Given the description of an element on the screen output the (x, y) to click on. 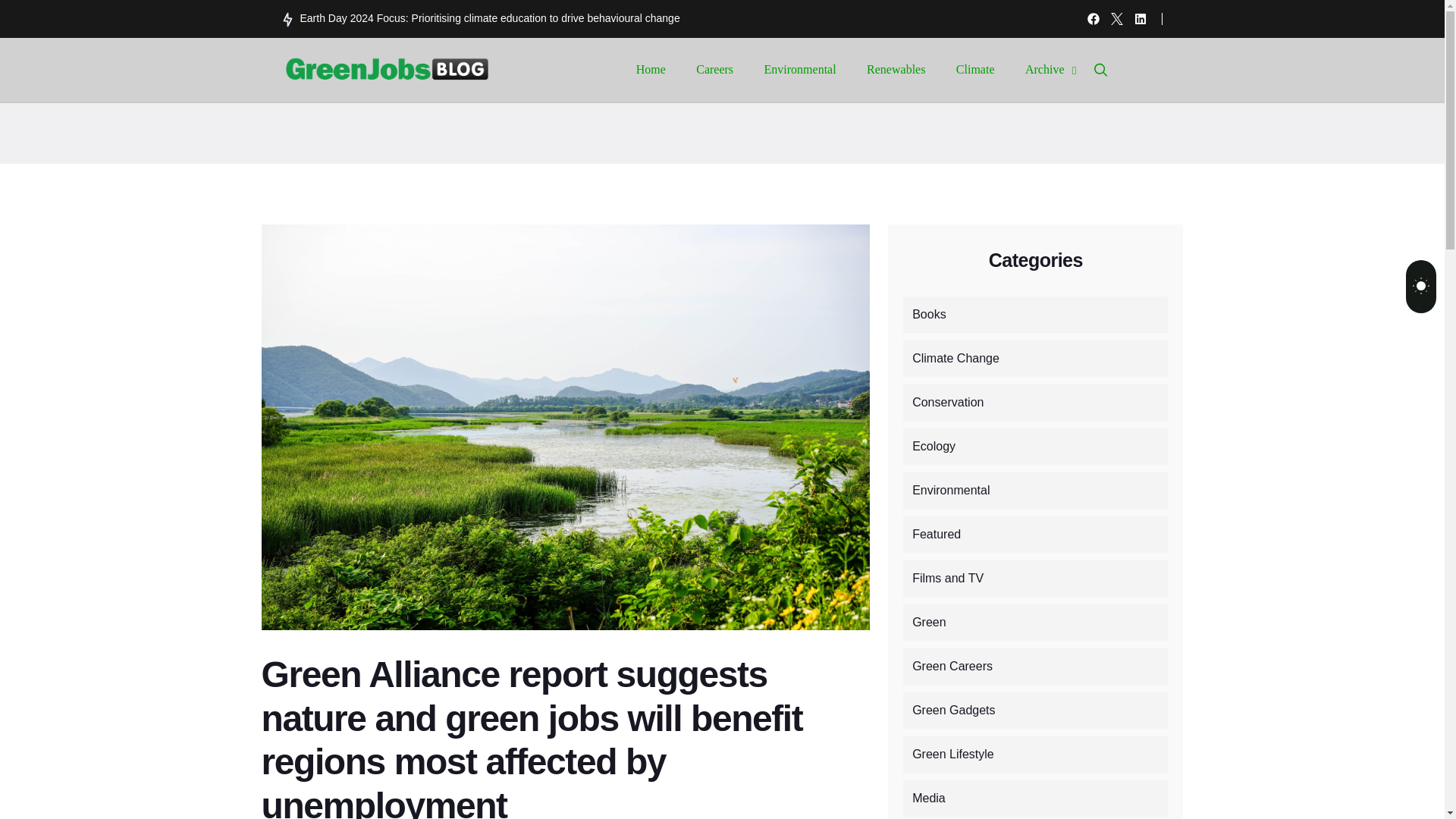
Careers (720, 69)
Home (657, 69)
Environmental (806, 69)
